Given the description of an element on the screen output the (x, y) to click on. 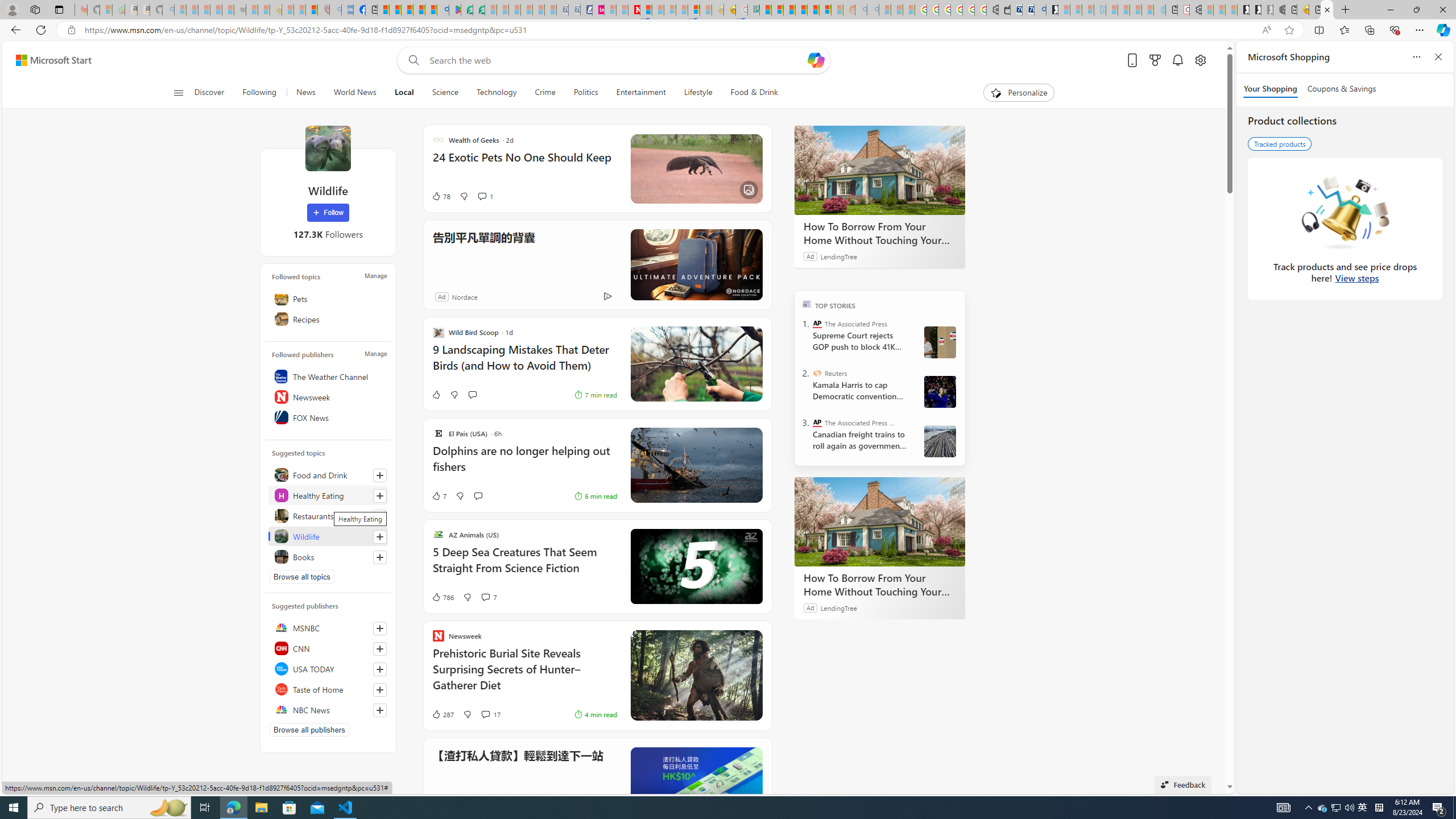
Books (327, 556)
Wildlife (327, 148)
Follow this source (379, 710)
Follow this source (379, 710)
FOX News (327, 417)
Jobs - lastminute.com Investor Portal (598, 9)
